Given the description of an element on the screen output the (x, y) to click on. 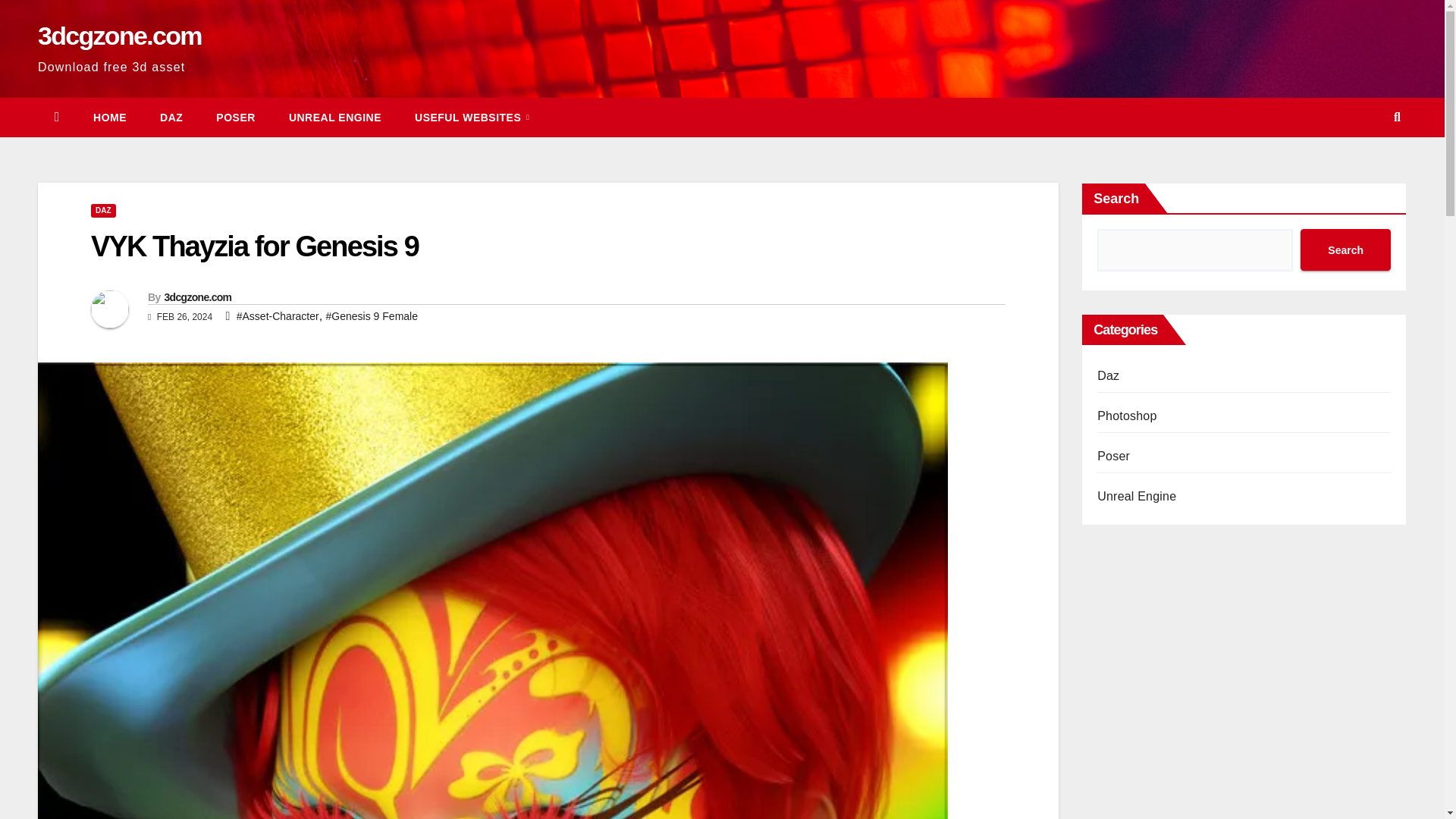
UNREAL ENGINE (334, 117)
DAZ (170, 117)
3dcgzone.com (197, 297)
Poser (235, 117)
HOME (109, 117)
DAZ (103, 210)
Daz (170, 117)
USEFUL WEBSITES (471, 117)
POSER (235, 117)
